Given the description of an element on the screen output the (x, y) to click on. 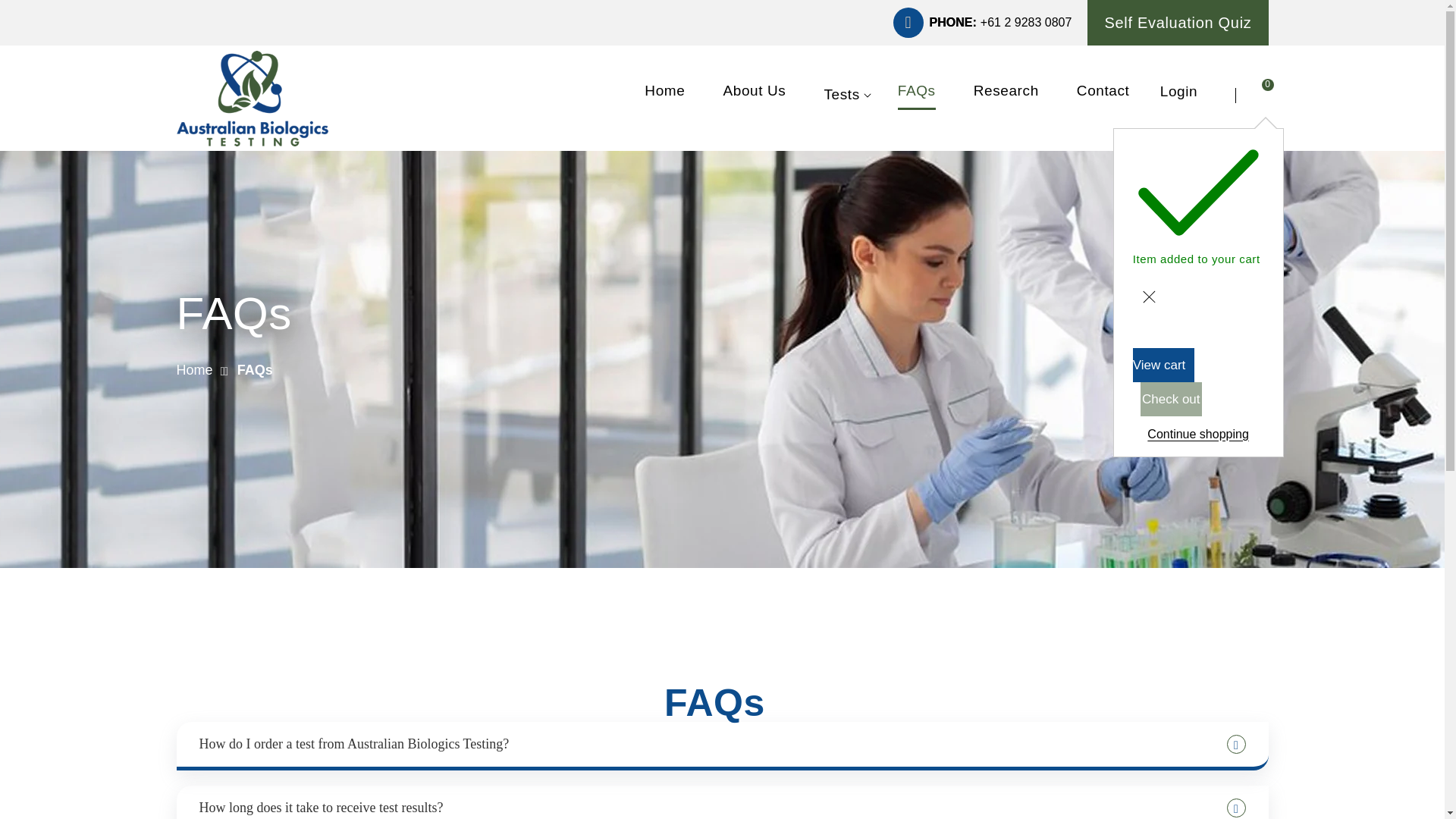
About Us (754, 96)
Home (664, 96)
Self Evaluation Quiz (1177, 22)
